Given the description of an element on the screen output the (x, y) to click on. 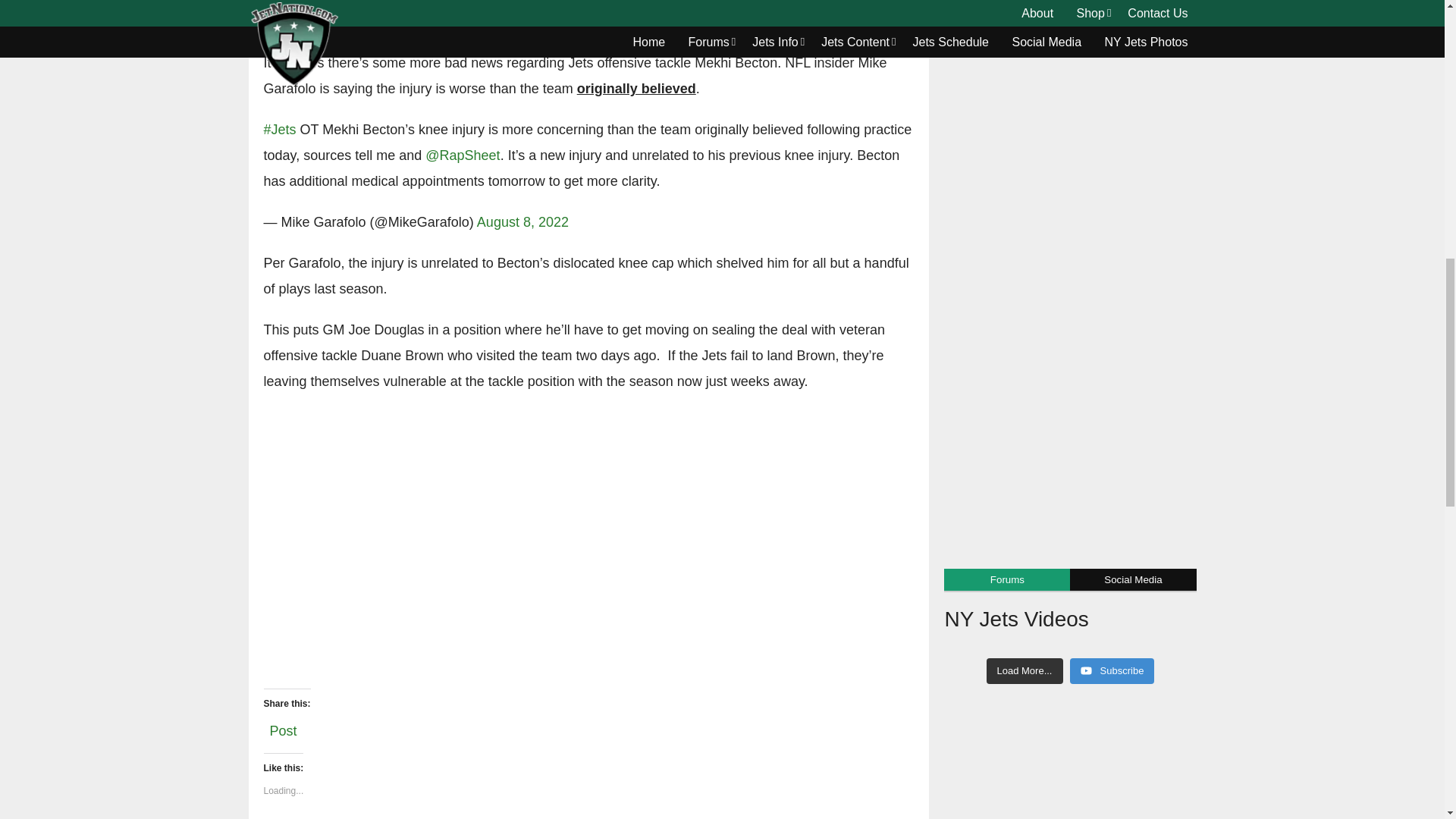
Facebook (278, 17)
Twitter (307, 17)
Email (337, 17)
